Given the description of an element on the screen output the (x, y) to click on. 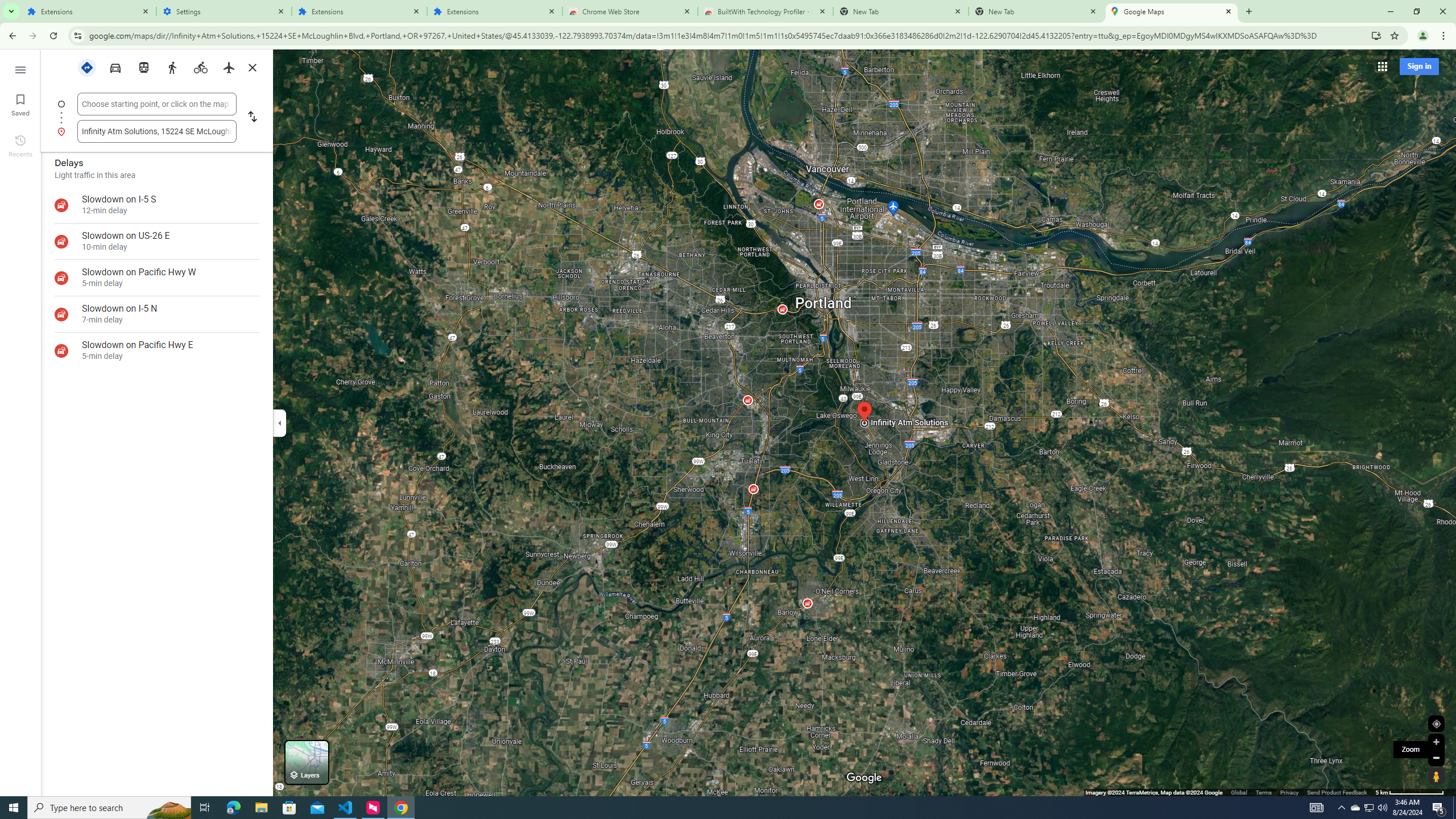
Reverse starting point and destination (251, 117)
New Tab (1036, 11)
Menu (20, 68)
Best travel modes (86, 67)
Extensions (494, 11)
Cycling (200, 67)
Close directions (252, 67)
Settings (224, 11)
Transit (143, 67)
